Given the description of an element on the screen output the (x, y) to click on. 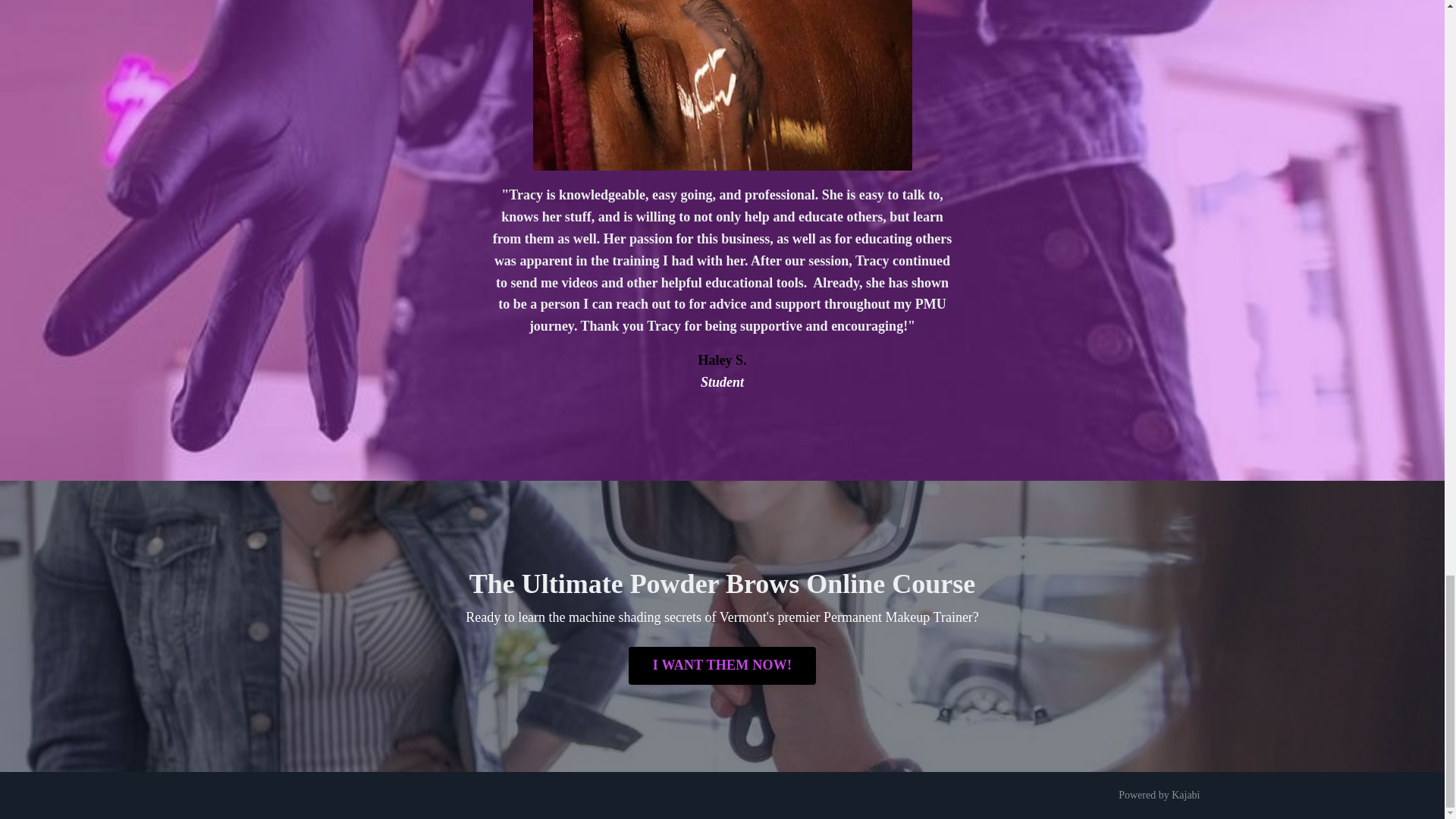
I WANT THEM NOW! (722, 665)
Powered by Kajabi (1158, 794)
